Given the description of an element on the screen output the (x, y) to click on. 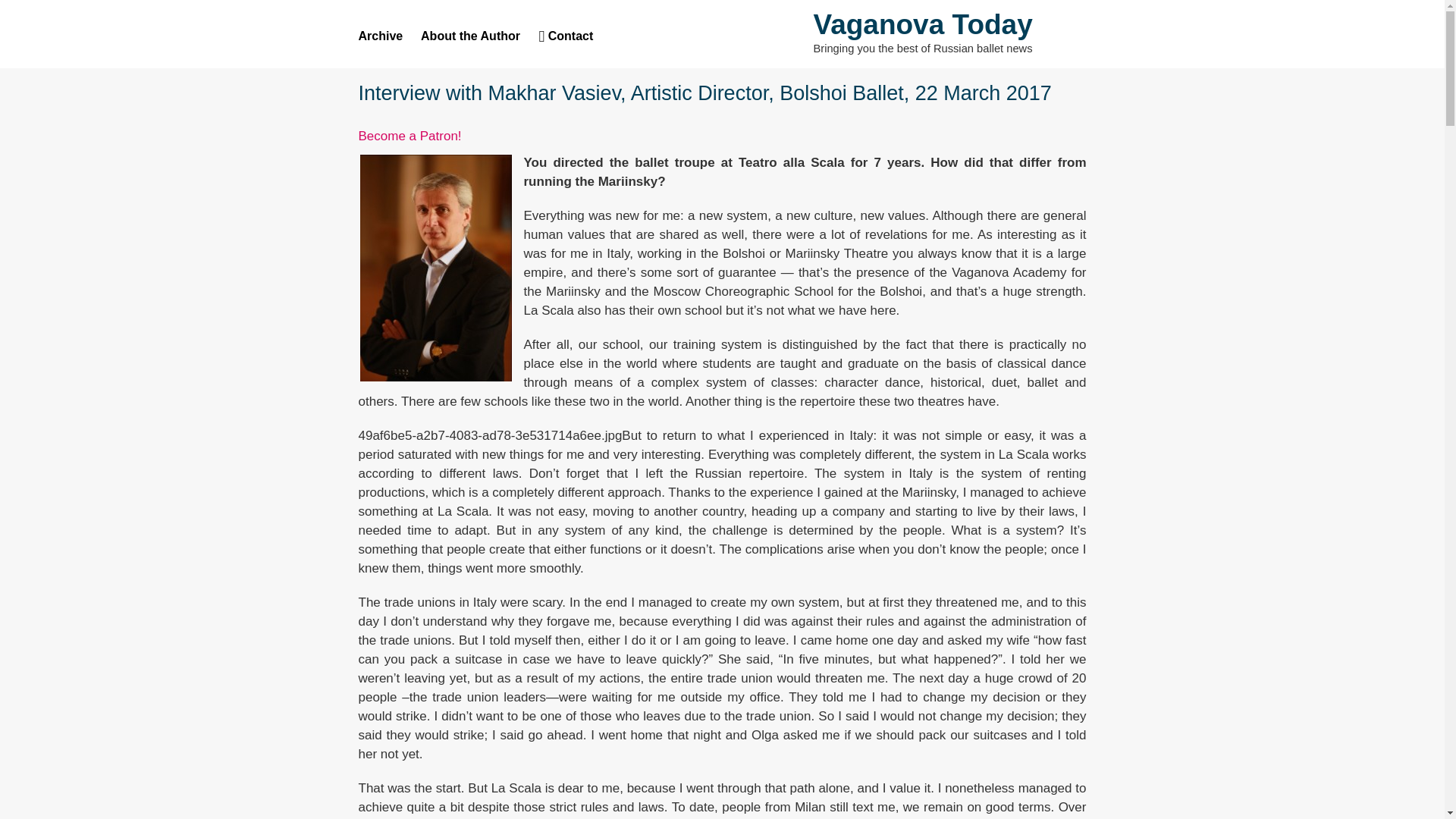
Become a Patron! (409, 135)
About the Author (477, 35)
Contact (565, 35)
Archive (387, 35)
Vaganova Today (922, 24)
